Given the description of an element on the screen output the (x, y) to click on. 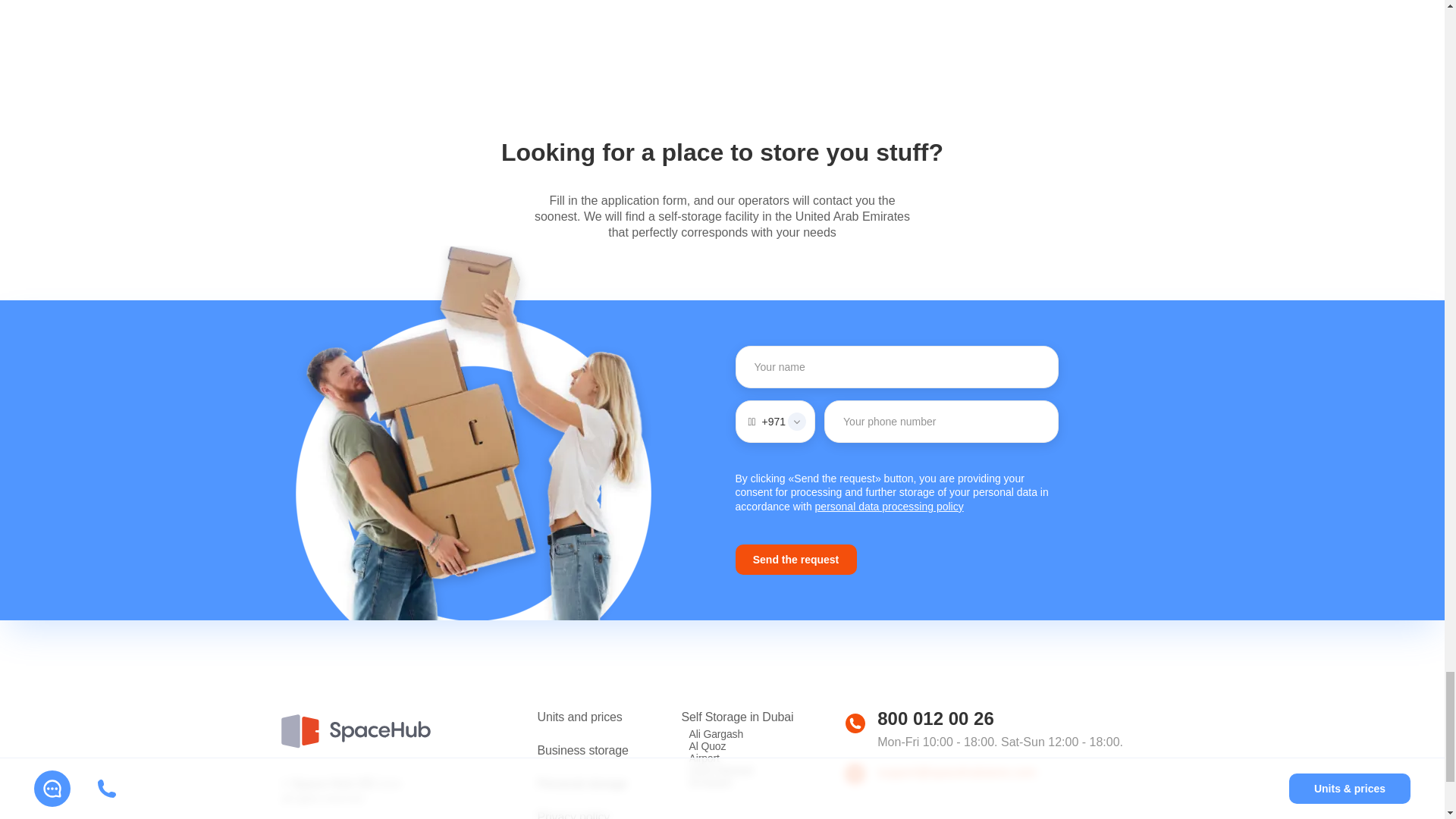
Send the request (796, 559)
Send the request (796, 559)
personal data processing policy (889, 506)
